Given the description of an element on the screen output the (x, y) to click on. 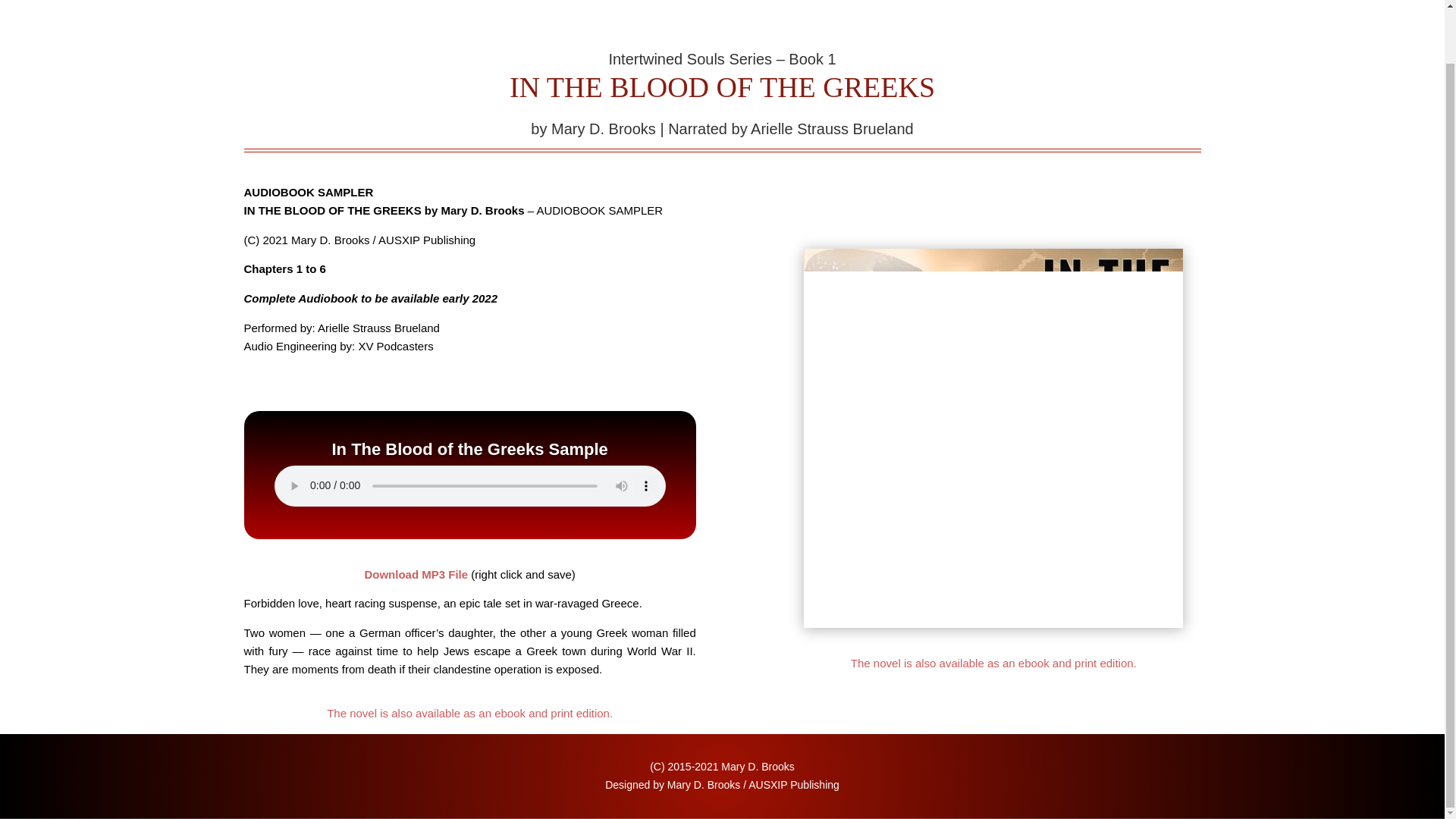
The novel is also available as an ebook and print edition. (993, 662)
The novel is also available as an ebook and print edition. (469, 712)
Download MP3 File (415, 574)
